Given the description of an element on the screen output the (x, y) to click on. 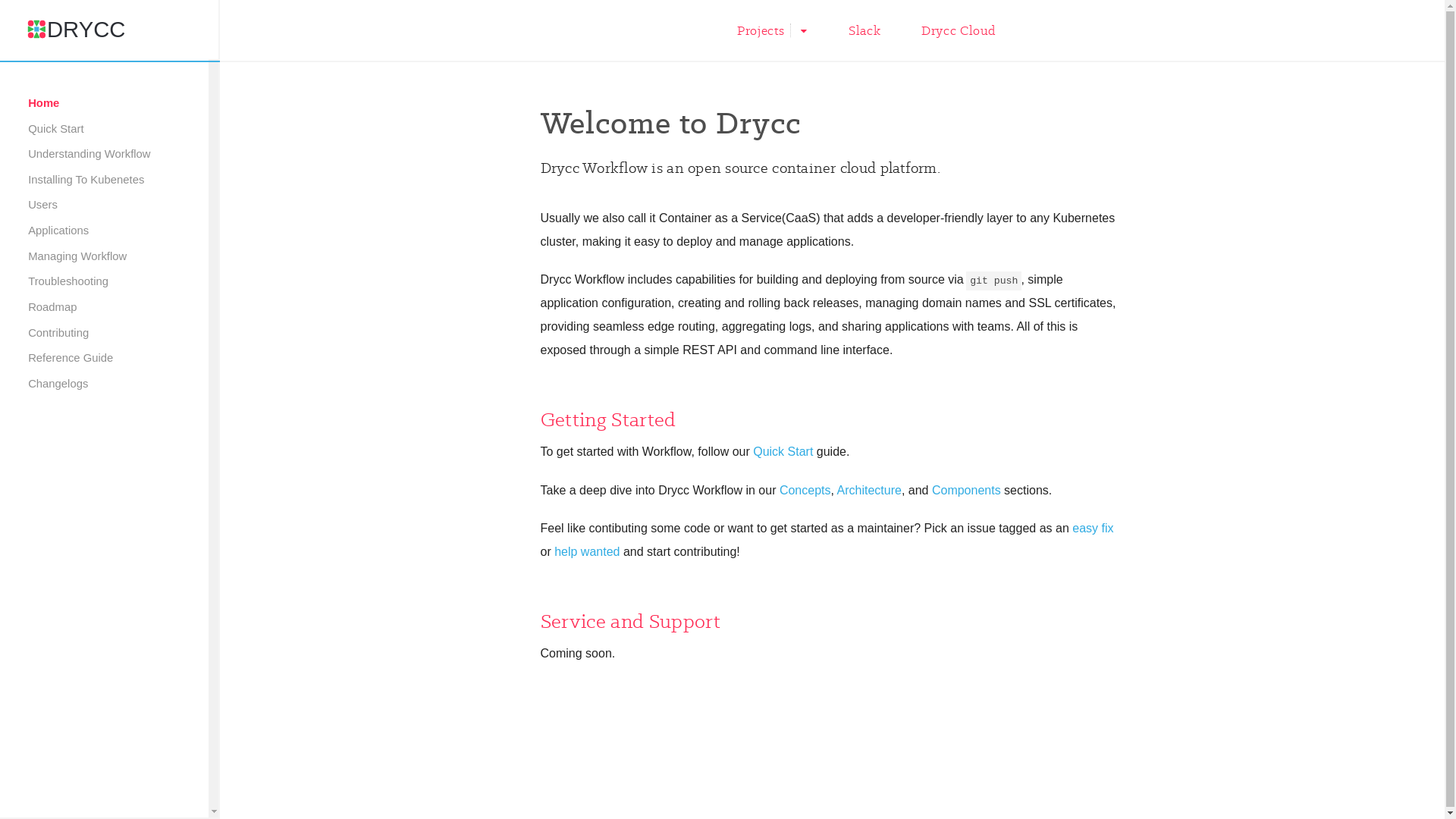
help wanted Element type: text (586, 551)
easy fix Element type: text (1092, 527)
Quick Start Element type: text (104, 129)
Home Element type: text (104, 103)
Projects Element type: text (772, 36)
Contributing Element type: text (104, 333)
Slack Element type: text (864, 36)
Components Element type: text (966, 489)
Drycc Cloud Element type: text (958, 36)
Applications Element type: text (104, 231)
Troubleshooting Element type: text (104, 281)
Roadmap Element type: text (104, 307)
Reference Guide Element type: text (104, 358)
Managing Workflow Element type: text (104, 256)
Concepts Element type: text (805, 489)
Users Element type: text (104, 205)
Installing To Kubenetes Element type: text (104, 180)
Changelogs Element type: text (104, 384)
Quick Start Element type: text (782, 451)
Architecture Element type: text (869, 489)
Understanding Workflow Element type: text (104, 154)
